Given the description of an element on the screen output the (x, y) to click on. 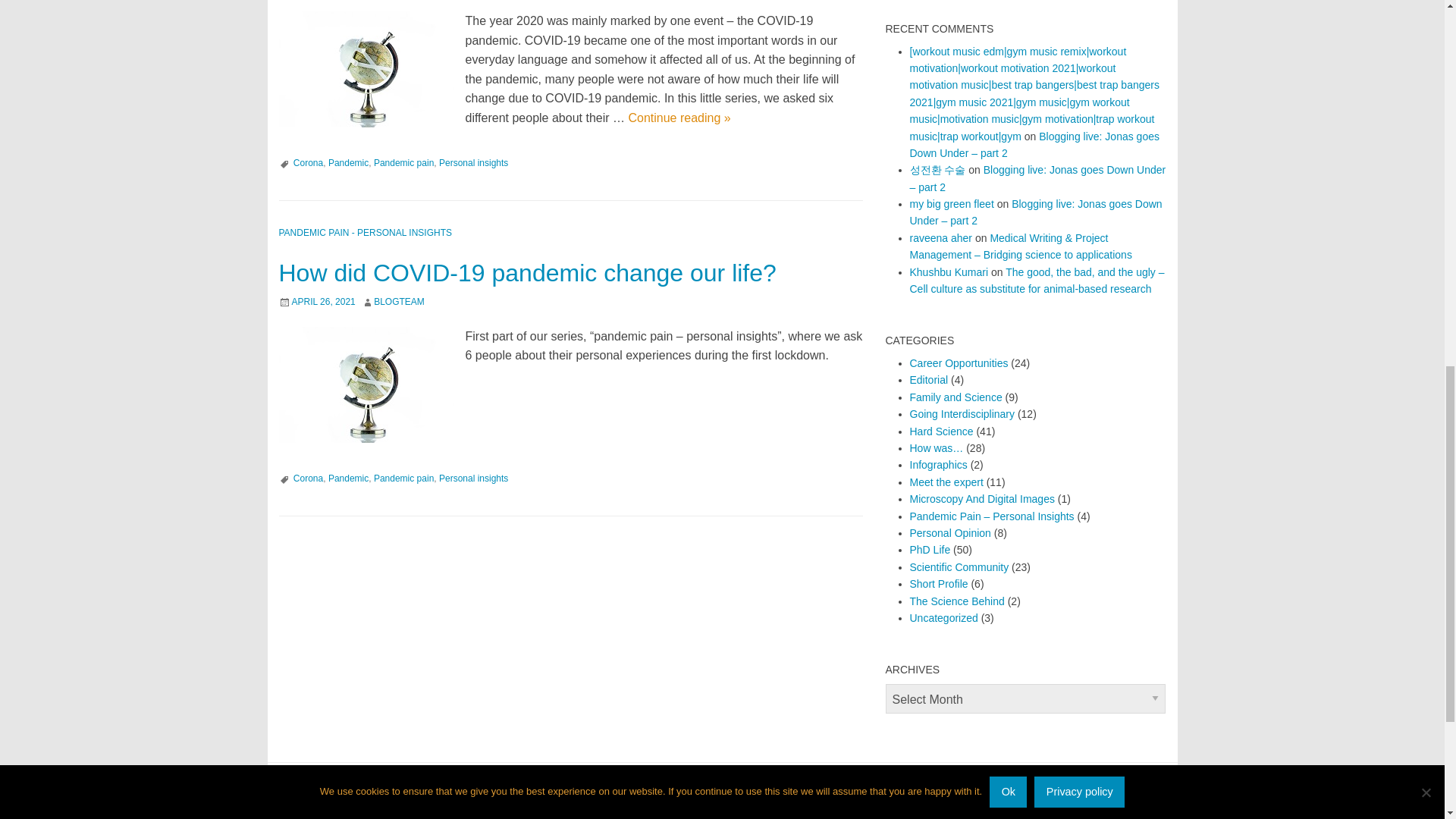
How did COVID-19 pandemic change our life? (527, 272)
APRIL 26, 2021 (323, 301)
Corona (308, 163)
Personal insights (473, 478)
Personal insights (473, 163)
Pandemic (348, 478)
Pandemic pain (403, 478)
PANDEMIC PAIN - PERSONAL INSIGHTS (365, 232)
Pandemic pain (403, 163)
Corona (308, 478)
Pandemic (348, 163)
BLOGTEAM (399, 301)
